Given the description of an element on the screen output the (x, y) to click on. 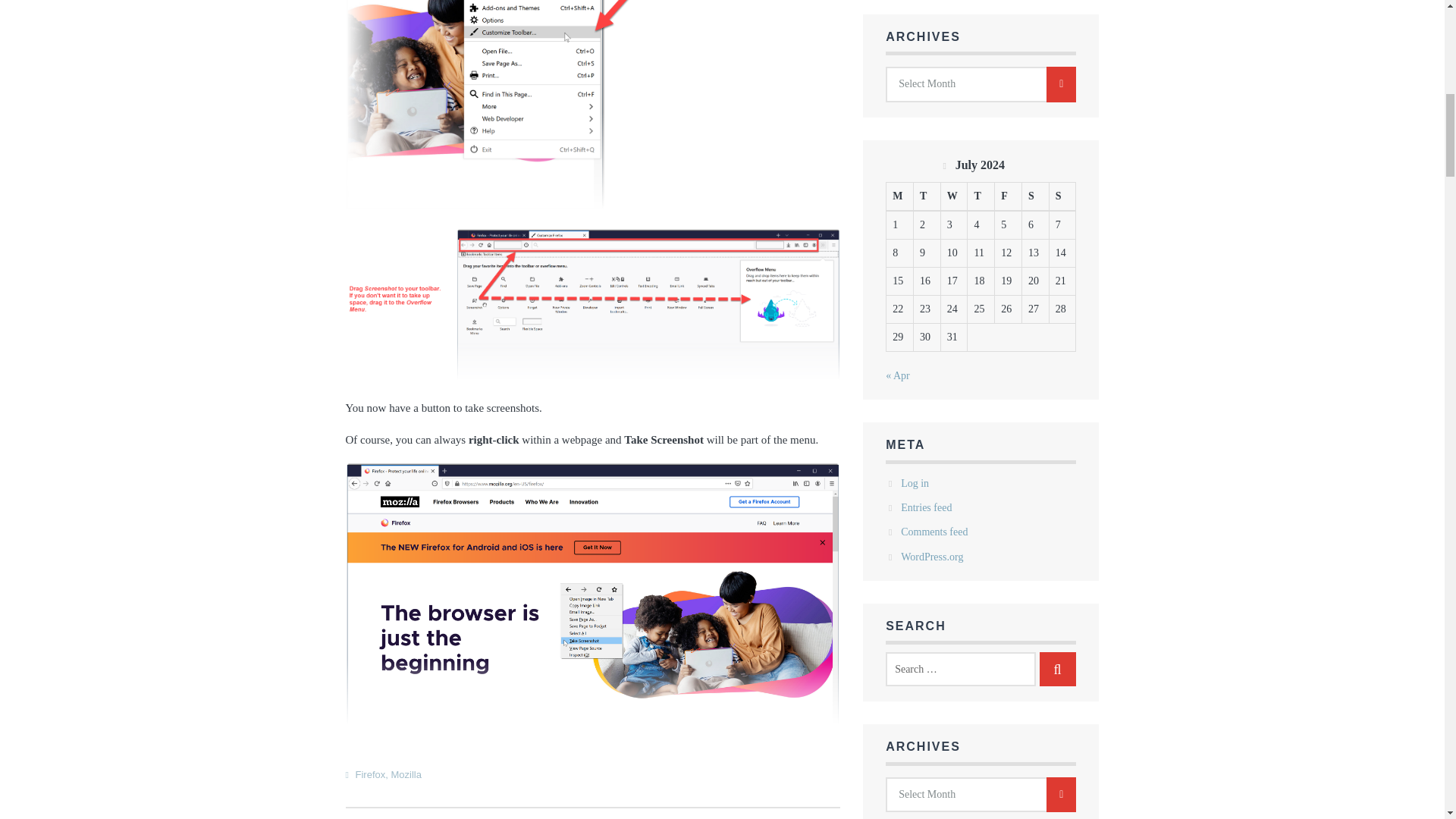
Saturday (1035, 196)
Mozilla (405, 774)
Monday (900, 196)
Wednesday (954, 196)
Sunday (1061, 196)
Tuesday (926, 196)
Thursday (981, 196)
Search for: (960, 668)
Friday (1008, 196)
Firefox (370, 774)
